Given the description of an element on the screen output the (x, y) to click on. 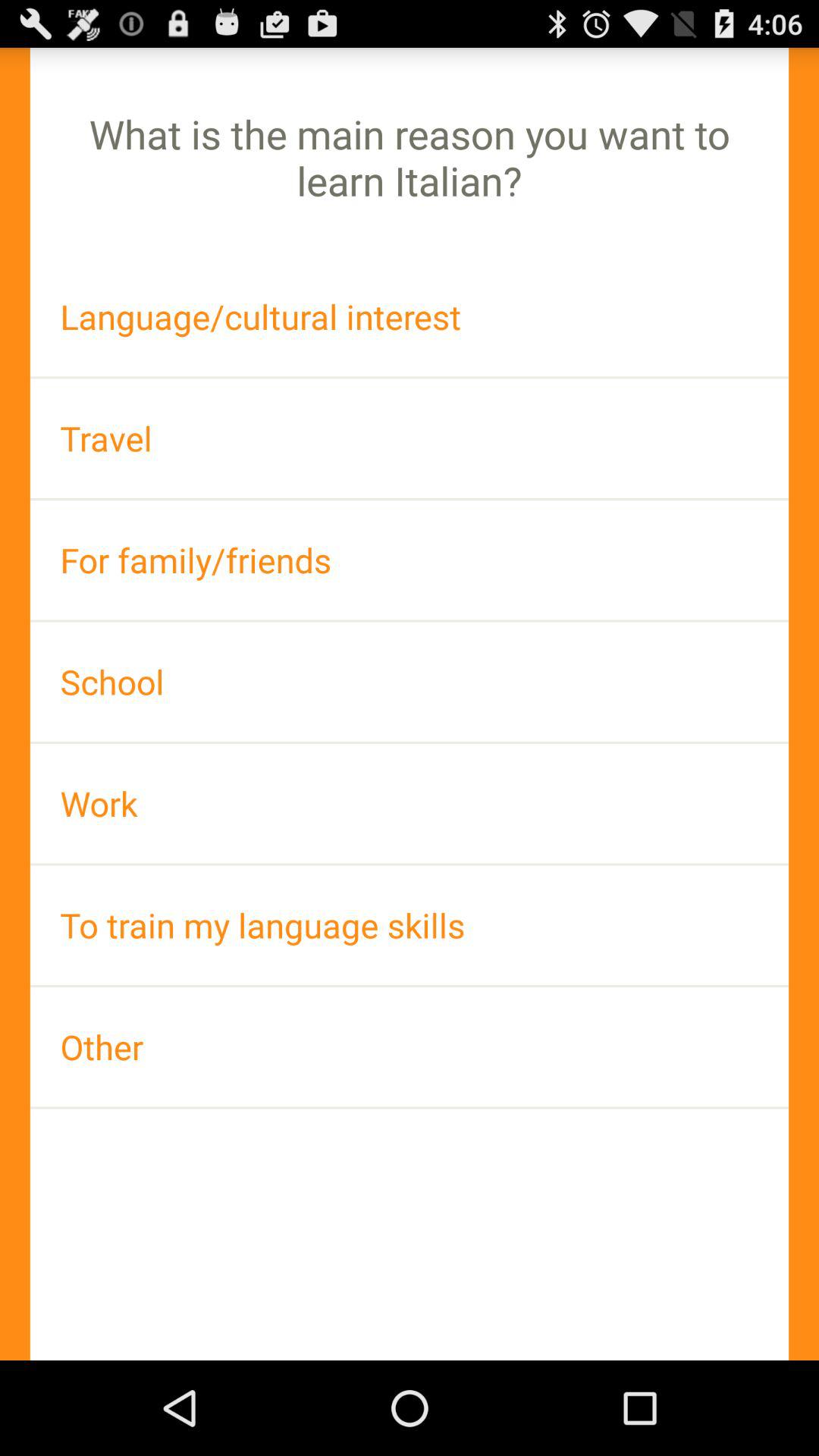
launch app above work (409, 681)
